Given the description of an element on the screen output the (x, y) to click on. 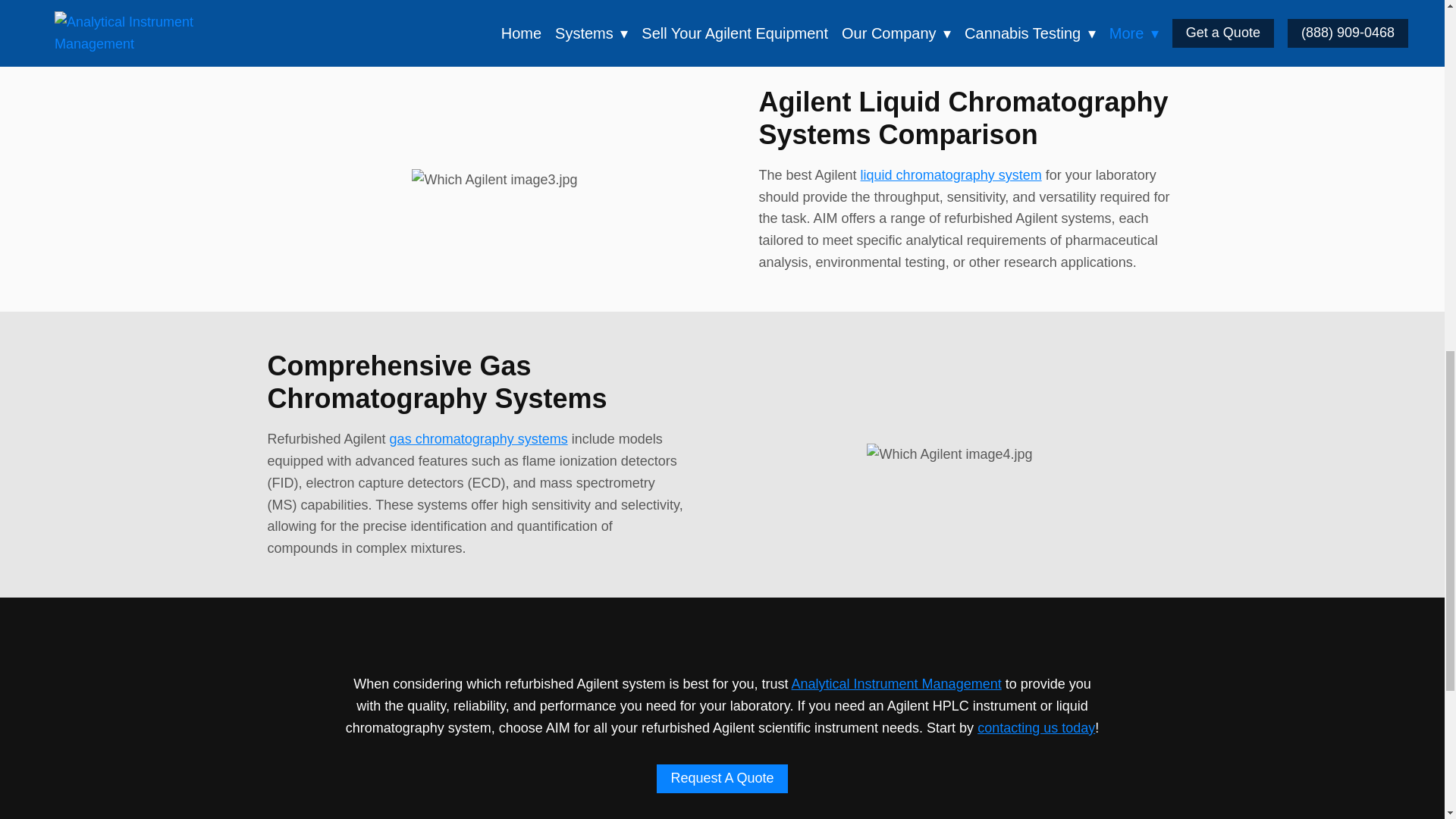
liquid chromatography system (951, 174)
contacting us today (1035, 727)
Analytical Instrument Management (896, 683)
gas chromatography systems (478, 438)
Request A Quote (721, 778)
